Given the description of an element on the screen output the (x, y) to click on. 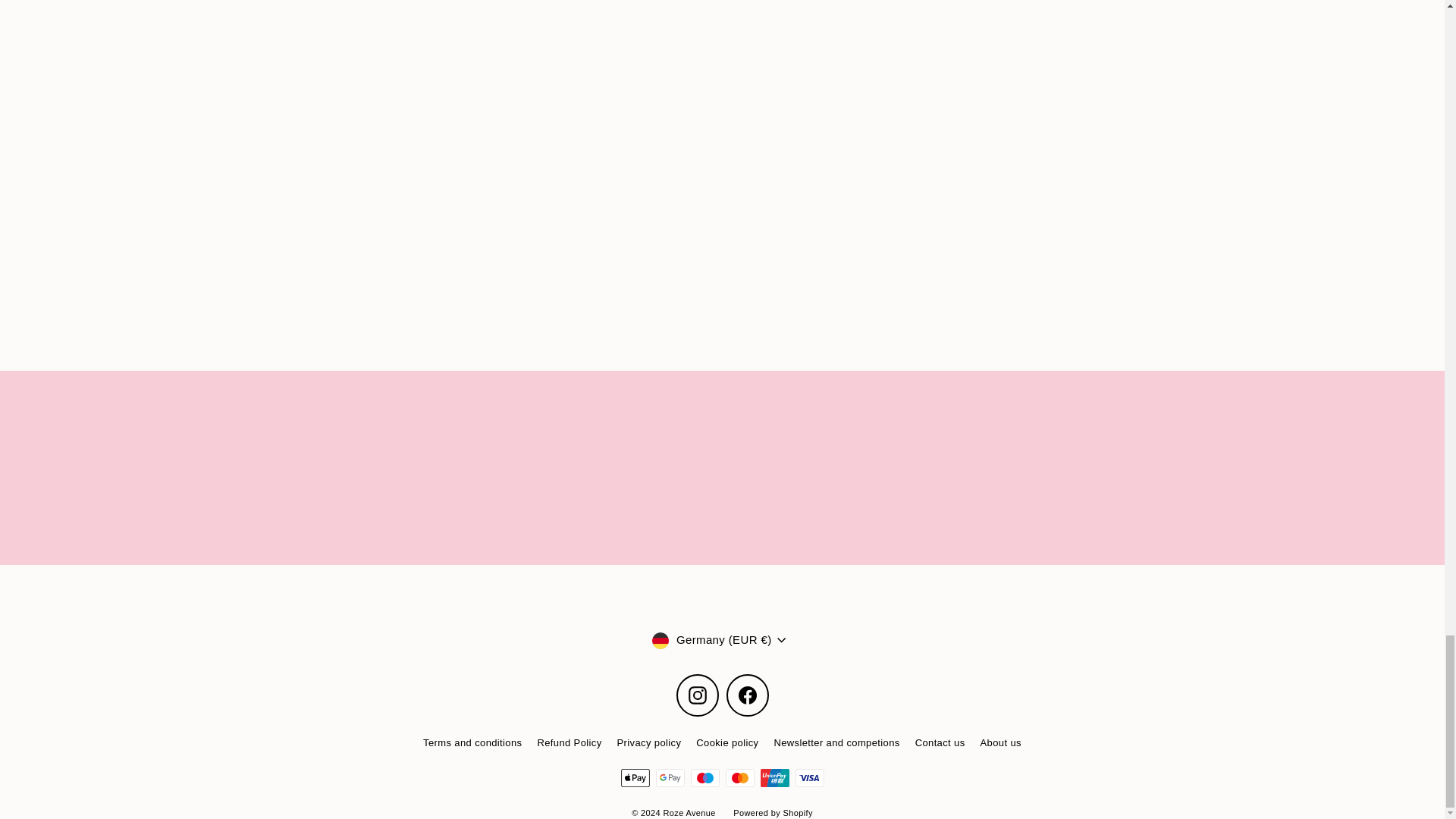
Visa (809, 778)
Roze Avenue on Facebook (747, 695)
instagram (697, 695)
Maestro (704, 778)
Google Pay (669, 778)
Roze Avenue on Instagram (698, 695)
Union Pay (774, 778)
Apple Pay (634, 778)
Mastercard (739, 778)
